Given the description of an element on the screen output the (x, y) to click on. 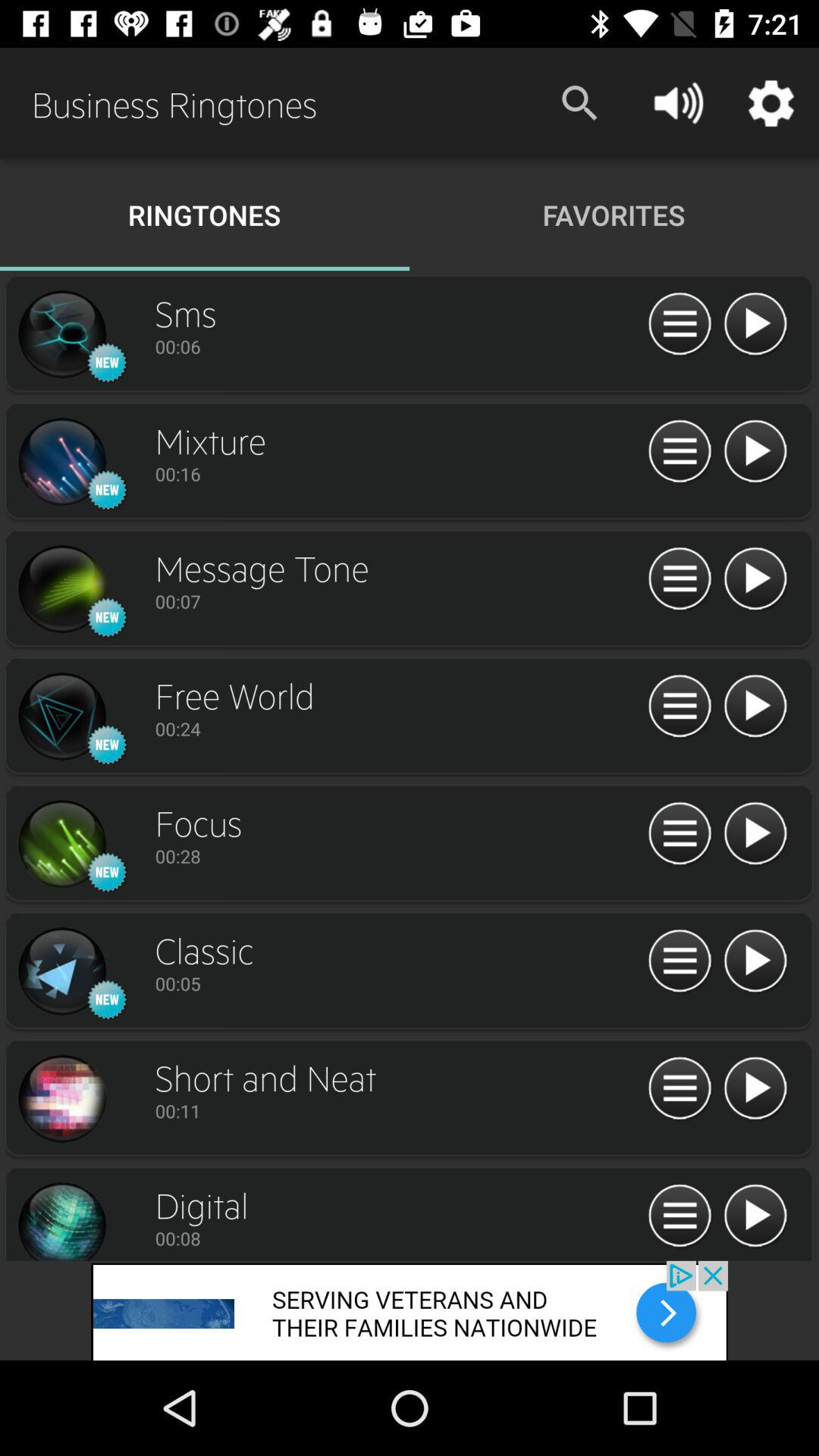
get more information for focus (679, 834)
